Given the description of an element on the screen output the (x, y) to click on. 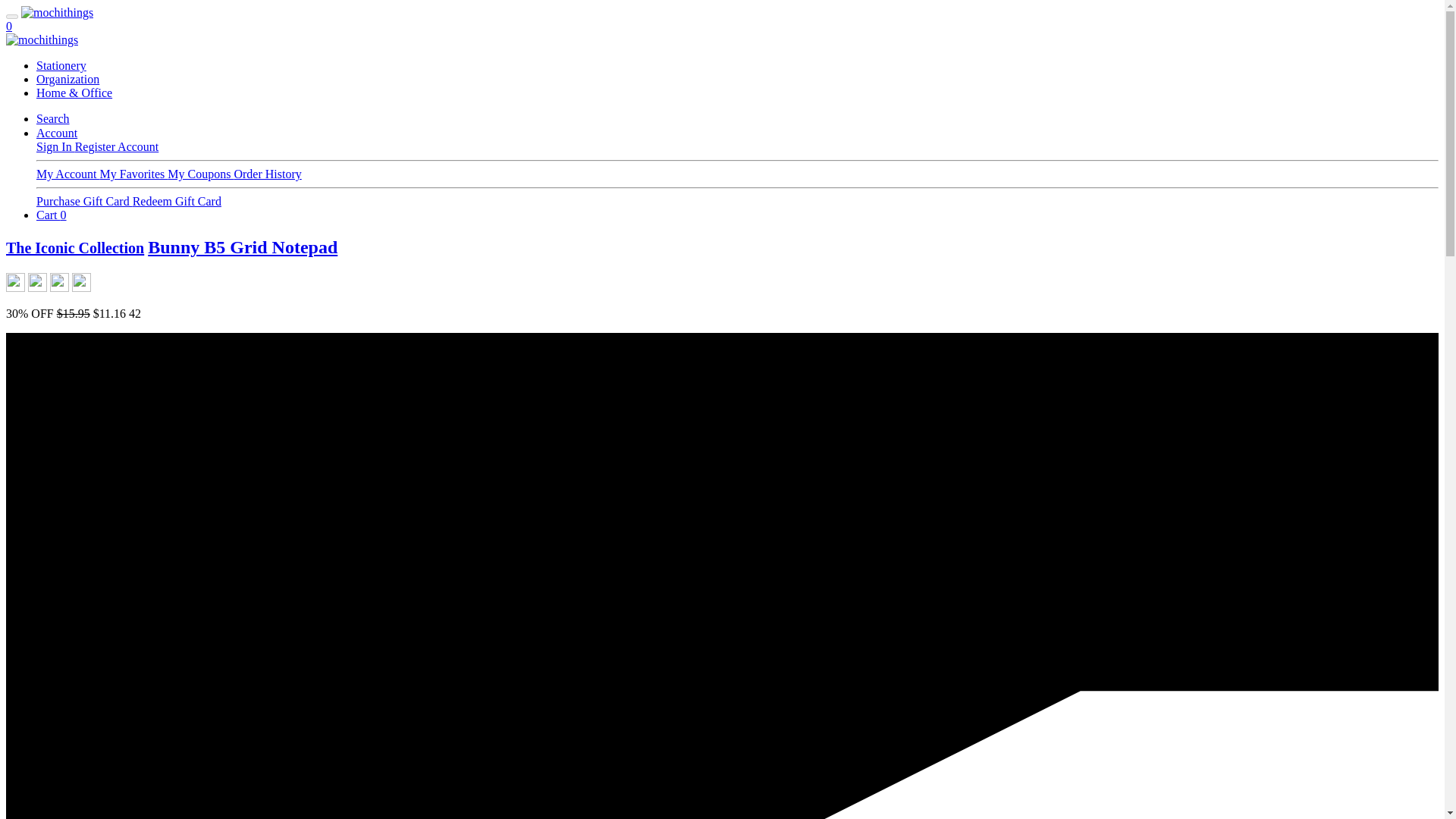
Order History (266, 173)
The Iconic Collection (74, 247)
My Favorites (134, 173)
Organization (67, 78)
Account (56, 132)
Redeem Gift Card (176, 201)
Register Account (116, 146)
My Coupons (199, 173)
Purchase Gift Card (84, 201)
My Account (68, 173)
